Given the description of an element on the screen output the (x, y) to click on. 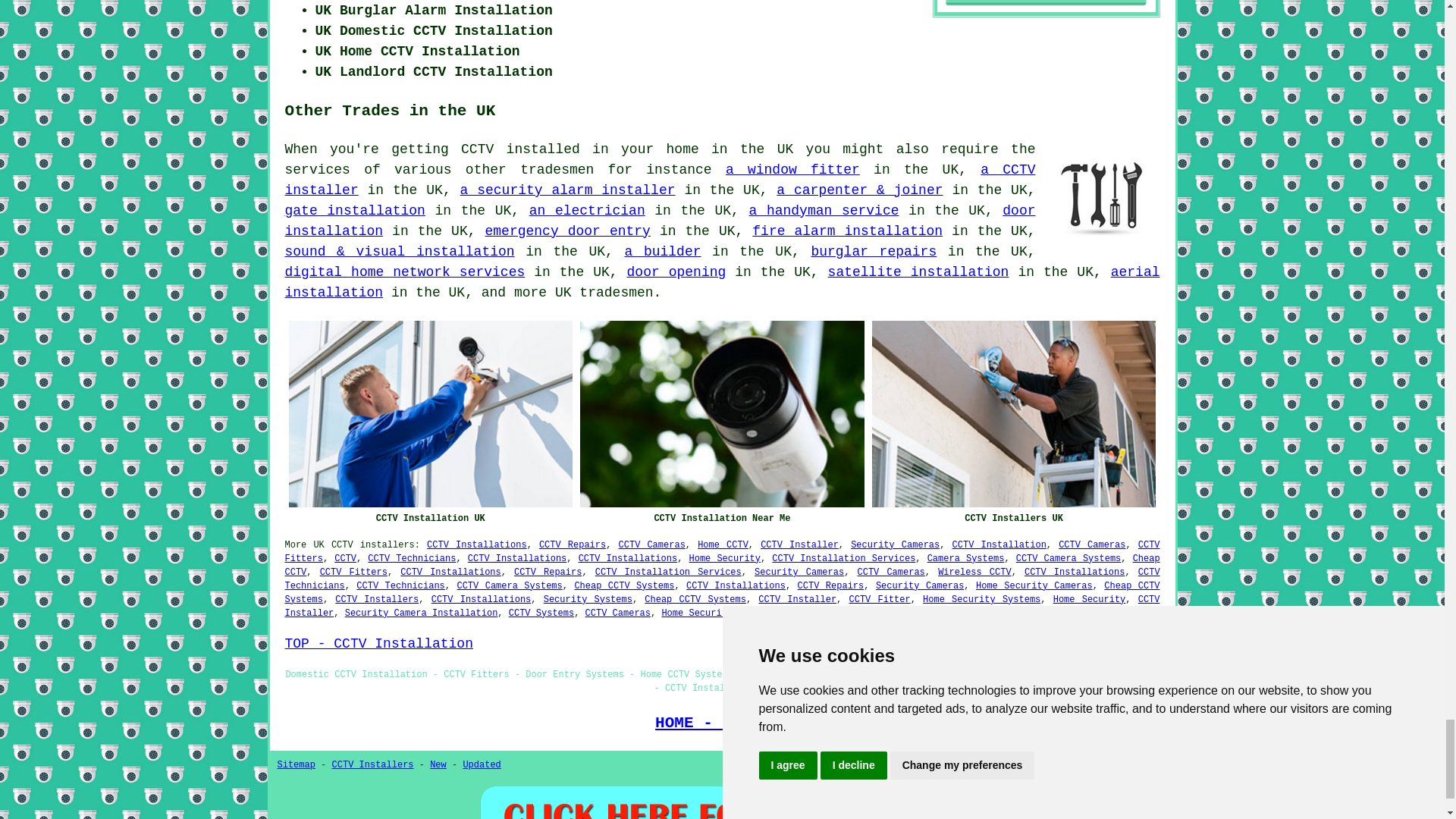
CCTV Installation UK (430, 413)
CCTV Installers UK (1014, 413)
UK CCTV Installers Near Me UK (1103, 196)
CCTV Installation Near Me UK (721, 413)
CCTV Installation Quotes UK (722, 800)
